Given the description of an element on the screen output the (x, y) to click on. 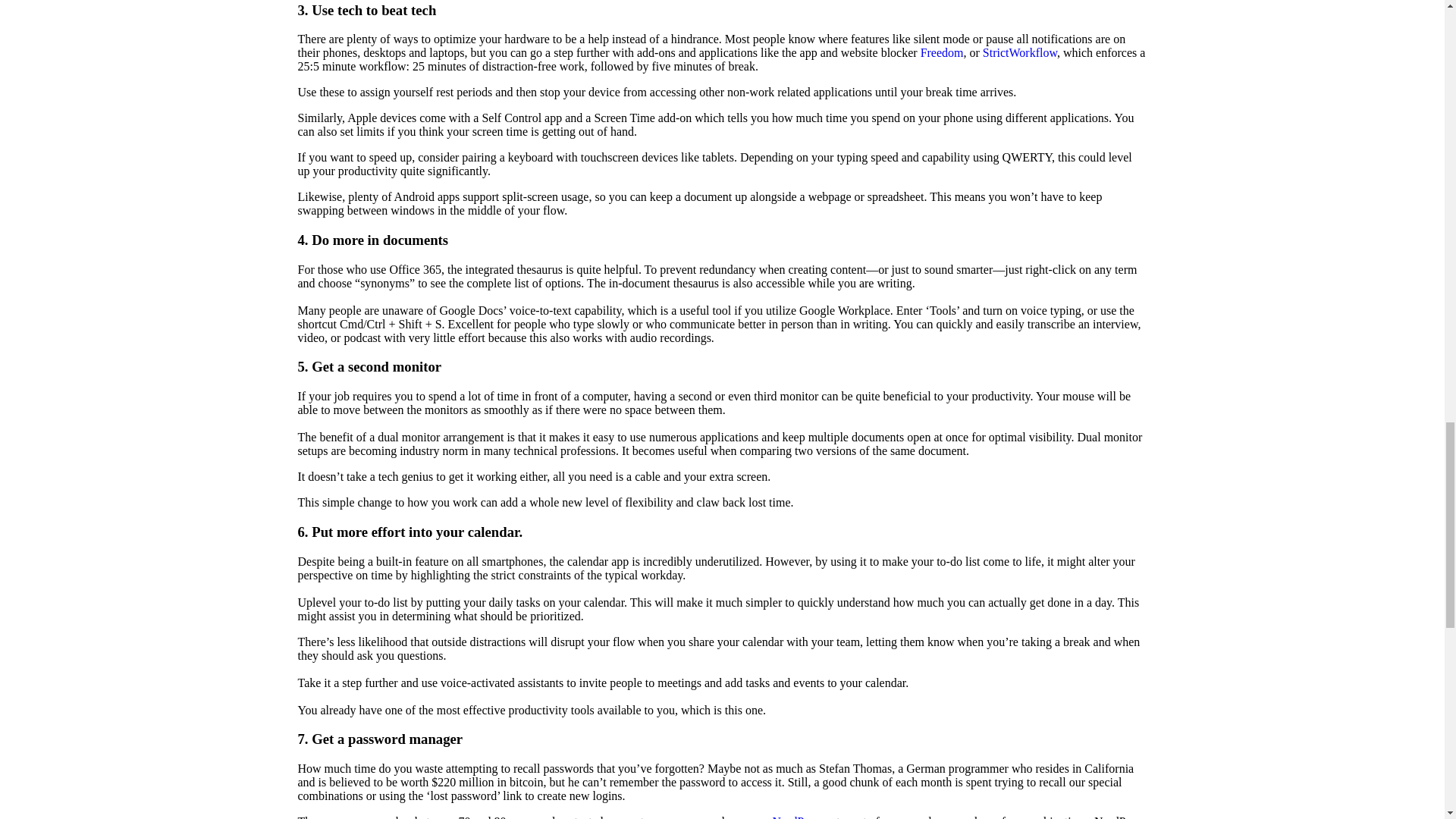
Freedom (941, 51)
StrictWorkflow (1019, 51)
NordPass (795, 816)
